Given the description of an element on the screen output the (x, y) to click on. 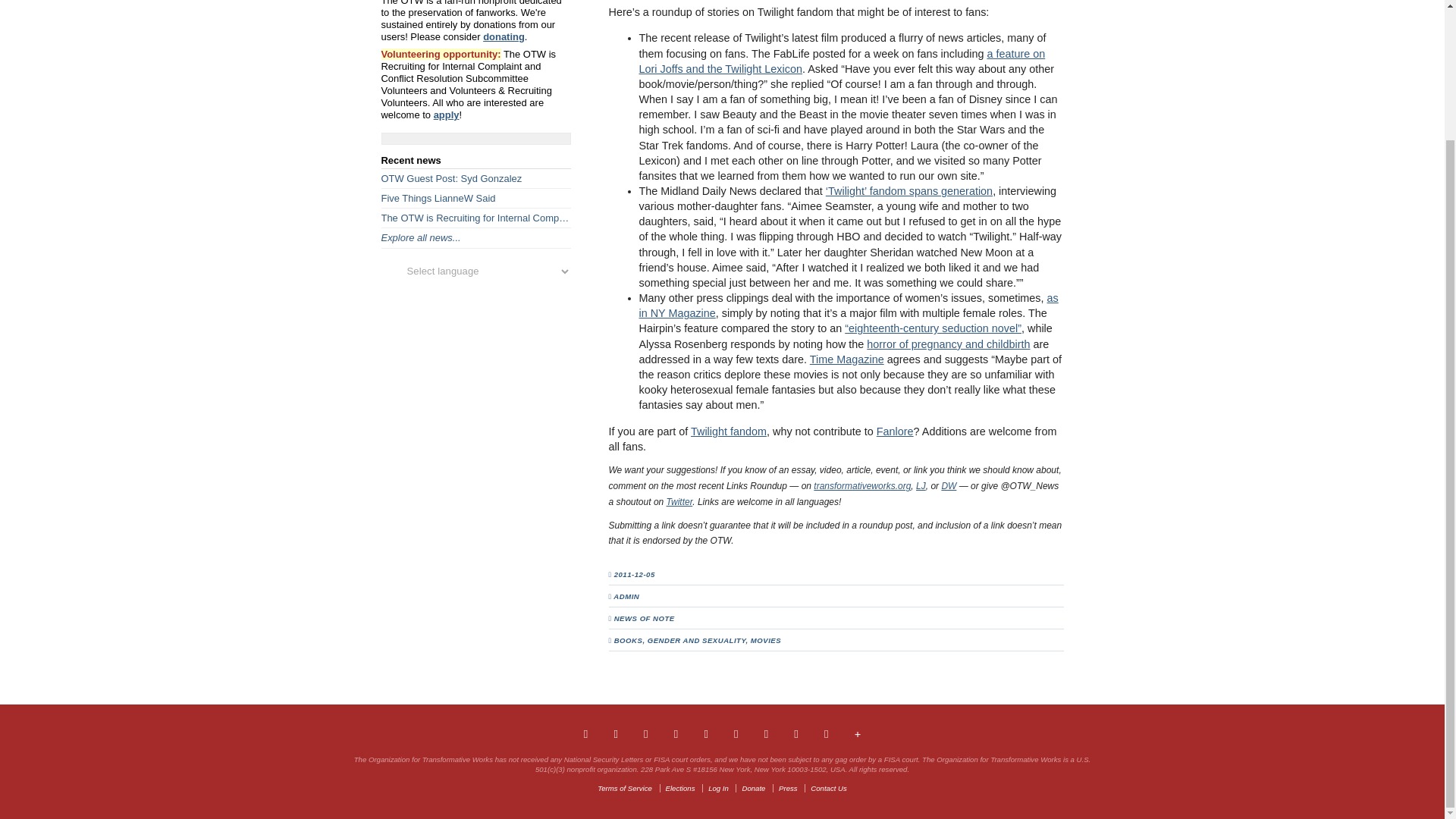
Twitter (645, 733)
Facebook (614, 733)
Linkedin (704, 733)
Vimeo (735, 733)
OTW Guest Post: Syd Gonzalez (475, 178)
Five Things LianneW Said (475, 198)
RSS (825, 733)
Github (795, 733)
18:59 (638, 574)
apply (446, 114)
Tumblr (675, 733)
Time Magazine (846, 358)
More (858, 733)
as in NY Magazine (848, 305)
a feature on Lori Joffs and the Twilight Lexicon (842, 61)
